Given the description of an element on the screen output the (x, y) to click on. 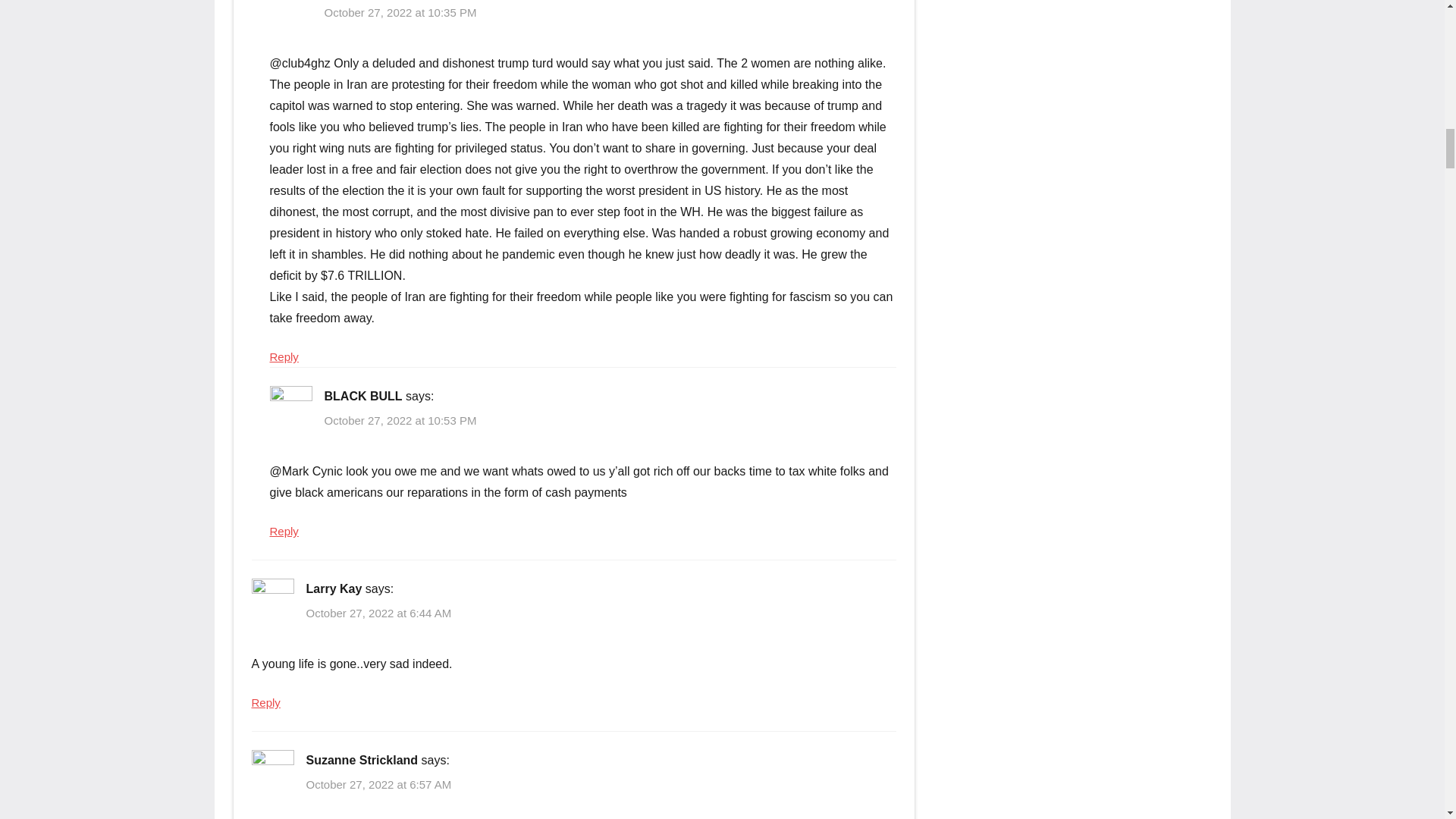
October 27, 2022 at 6:44 AM (378, 612)
Reply (266, 702)
October 27, 2022 at 10:35 PM (400, 11)
October 27, 2022 at 6:57 AM (378, 784)
Reply (283, 530)
October 27, 2022 at 10:53 PM (400, 420)
Reply (283, 356)
